Given the description of an element on the screen output the (x, y) to click on. 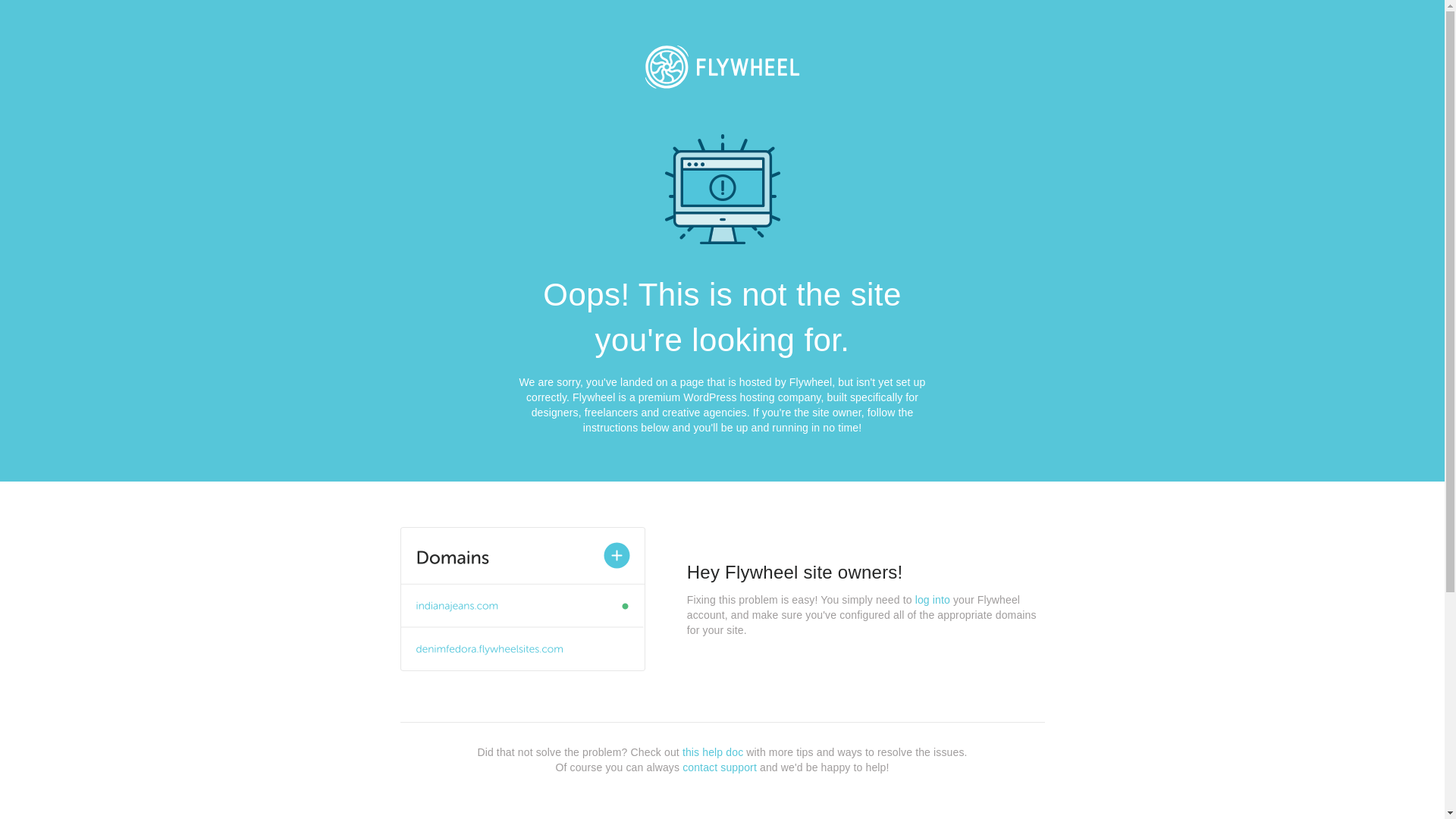
log into (932, 599)
contact support (719, 767)
this help doc (712, 752)
